Given the description of an element on the screen output the (x, y) to click on. 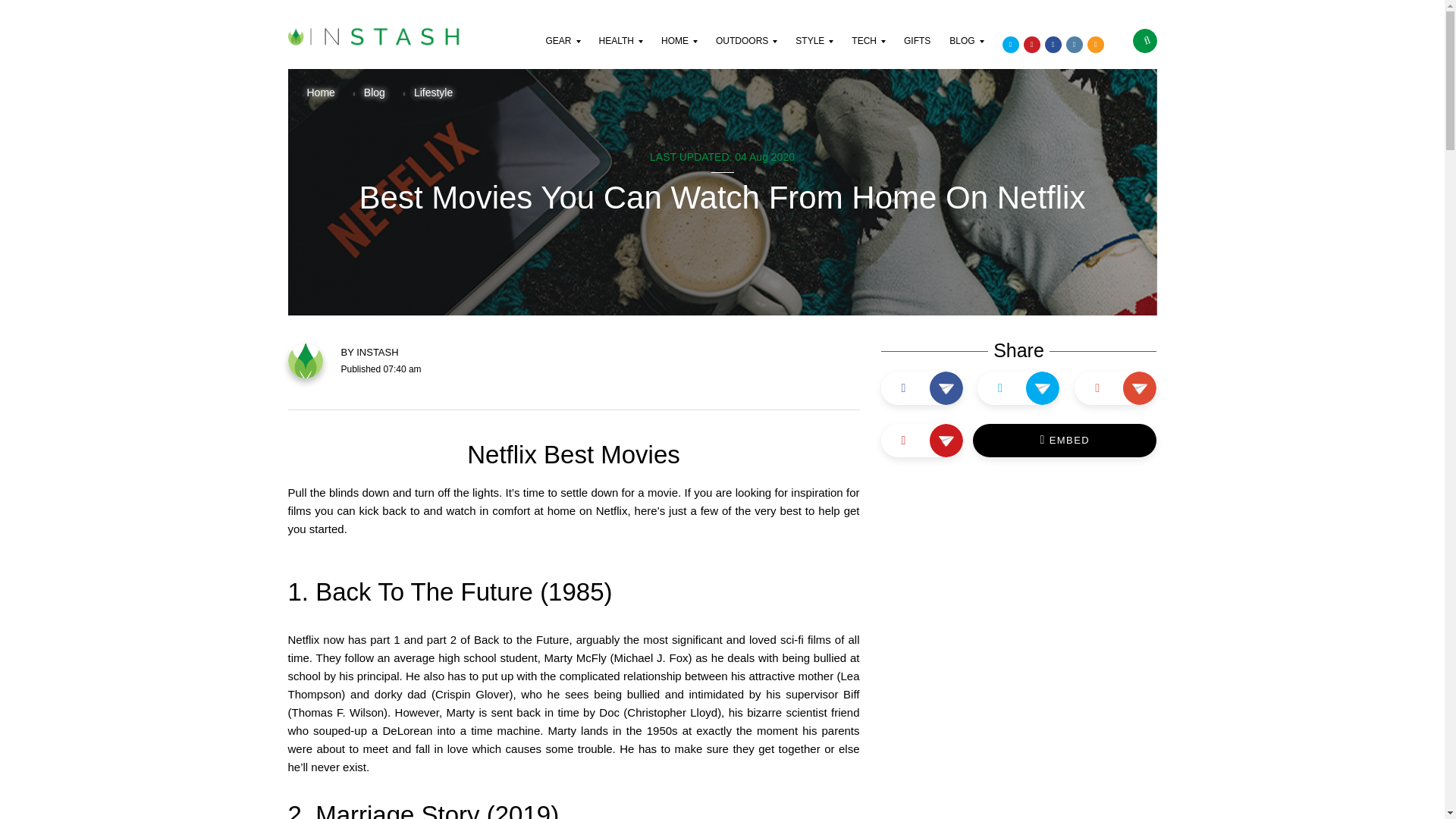
STYLE (814, 51)
HOME (680, 51)
TECH (869, 51)
HEALTH (621, 51)
OUTDOORS (747, 51)
GEAR (564, 51)
